Given the description of an element on the screen output the (x, y) to click on. 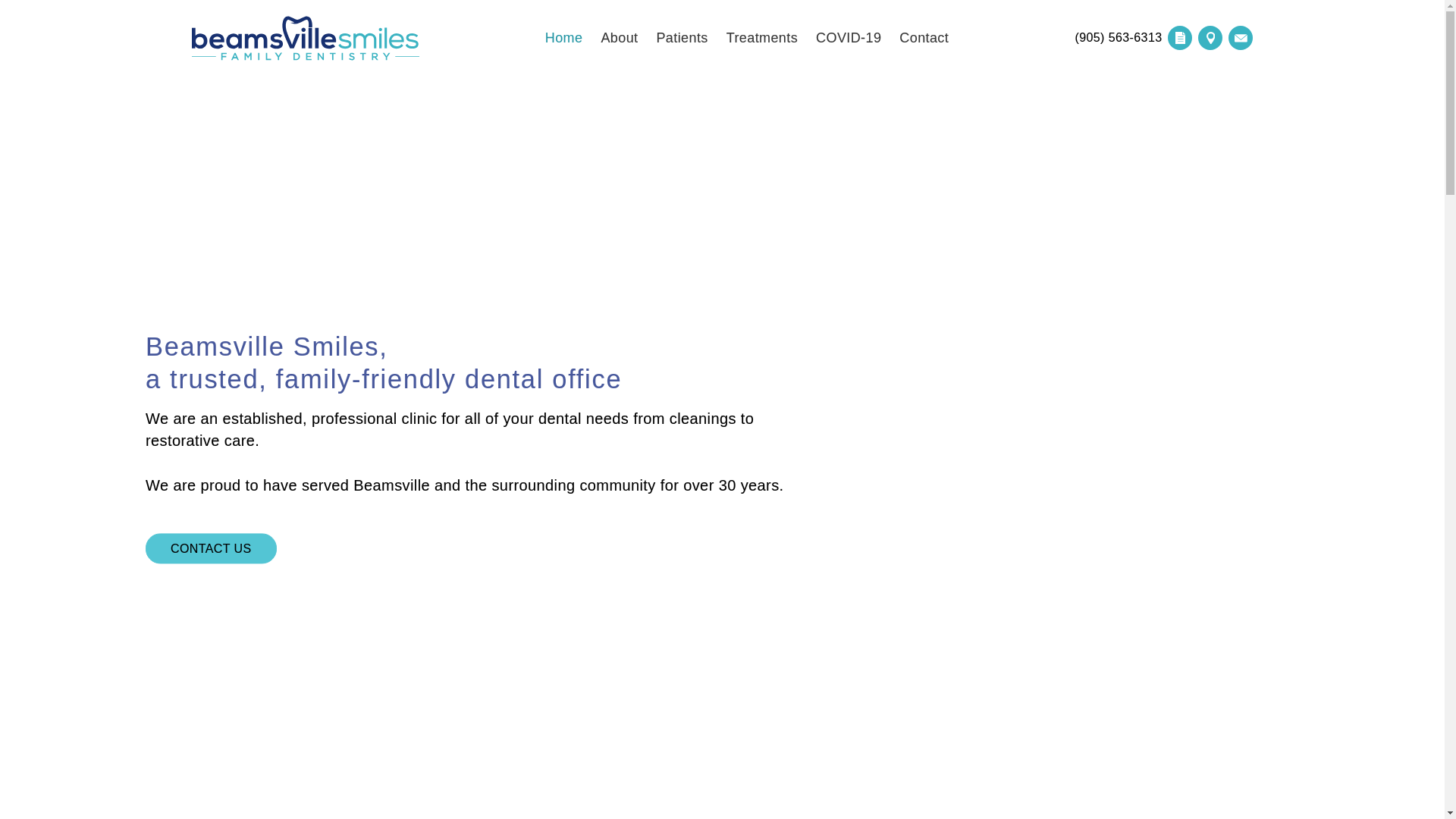
(905) 563-6313 Element type: text (1117, 37)
Home Element type: text (564, 37)
Contact Element type: text (923, 37)
CONTACT US Element type: text (210, 548)
Patients Element type: text (681, 37)
COVID-19 Element type: text (848, 37)
About Element type: text (618, 37)
Treatments Element type: text (761, 37)
